Given the description of an element on the screen output the (x, y) to click on. 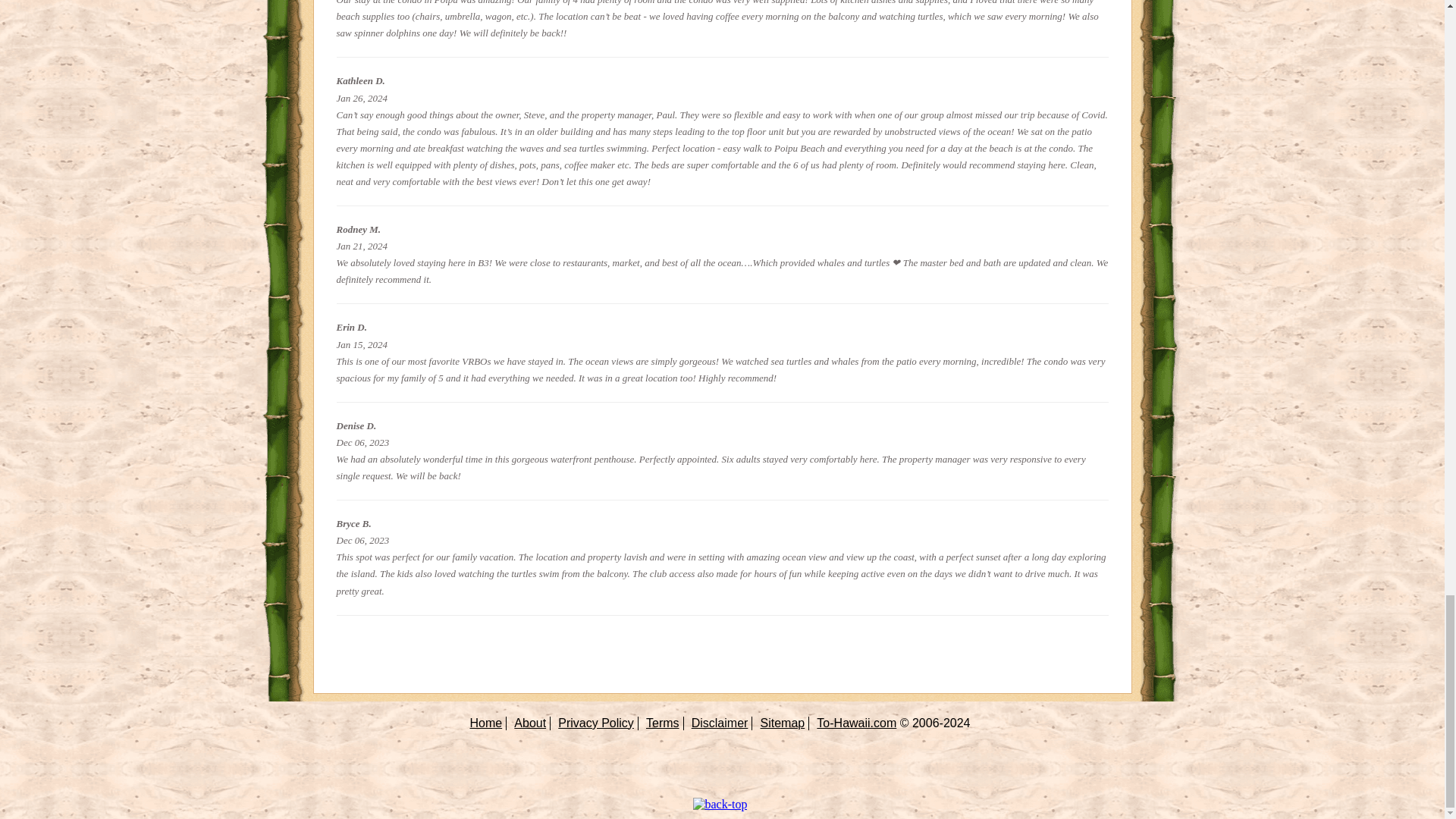
Home (486, 722)
Privacy Policy (595, 722)
Disclaimer (719, 722)
Terms (662, 722)
To-Hawaii.com (856, 722)
Sitemap (782, 722)
About (529, 722)
